Given the description of an element on the screen output the (x, y) to click on. 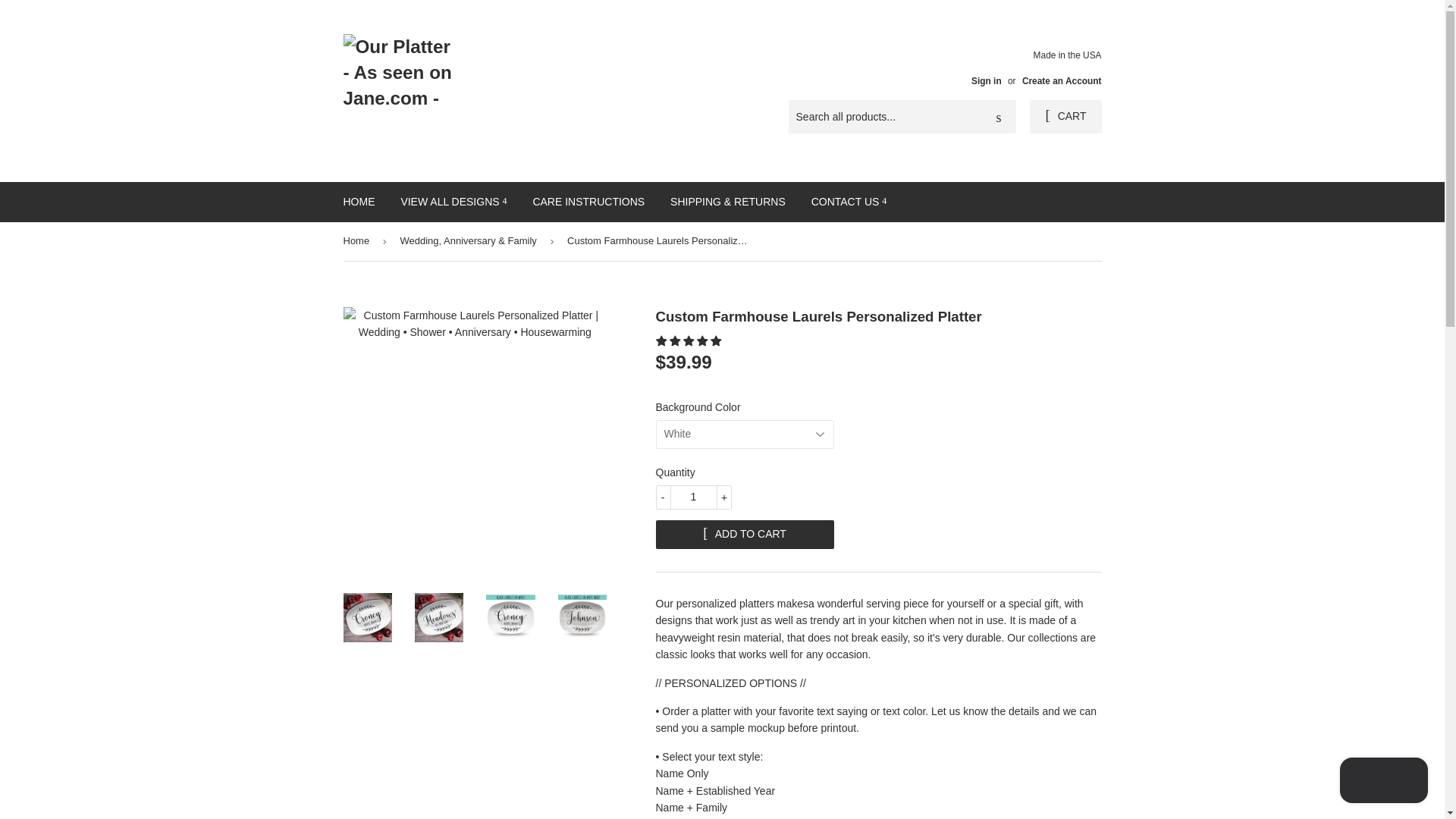
CART (1064, 116)
CONTACT US (848, 201)
Shopify online store chat (1383, 781)
Search (998, 117)
CARE INSTRUCTIONS (588, 201)
HOME (359, 201)
1 (692, 497)
VIEW ALL DESIGNS (453, 201)
Sign in (986, 81)
Create an Account (1062, 81)
